Given the description of an element on the screen output the (x, y) to click on. 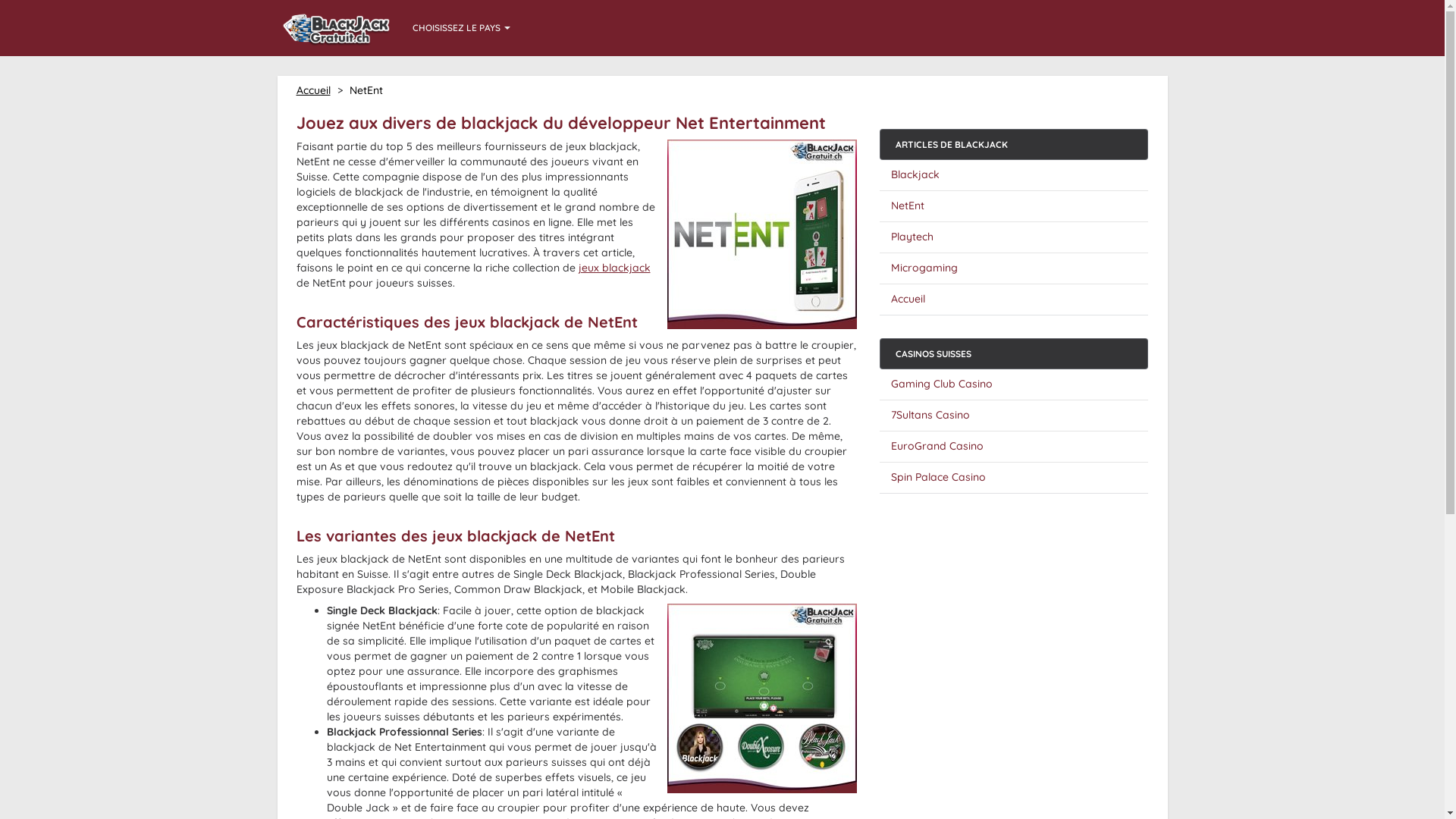
EuroGrand Casino Element type: text (937, 445)
Microgaming Element type: text (924, 267)
Spin Palace Casino Element type: text (938, 476)
CHOISISSEZ LE PAYS Element type: text (461, 24)
Gaming Club Casino Element type: text (941, 383)
jeux blackjack Element type: text (613, 267)
Playtech Element type: text (912, 236)
Accueil Element type: text (908, 298)
Accueil Element type: text (312, 90)
7Sultans Casino Element type: text (930, 414)
NetEnt Element type: text (907, 205)
Blackjack Element type: text (915, 174)
